Given the description of an element on the screen output the (x, y) to click on. 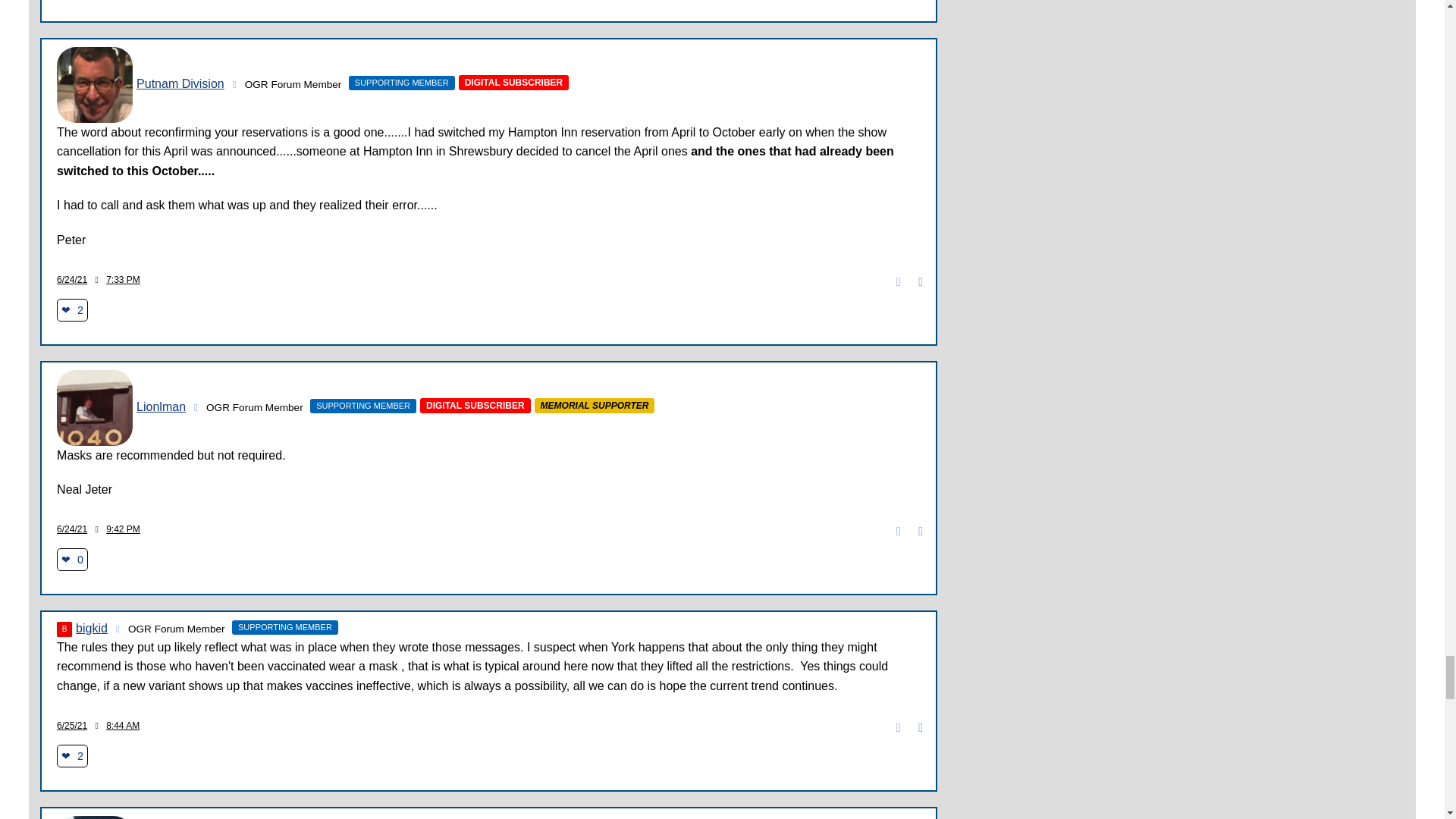
B (63, 629)
